Given the description of an element on the screen output the (x, y) to click on. 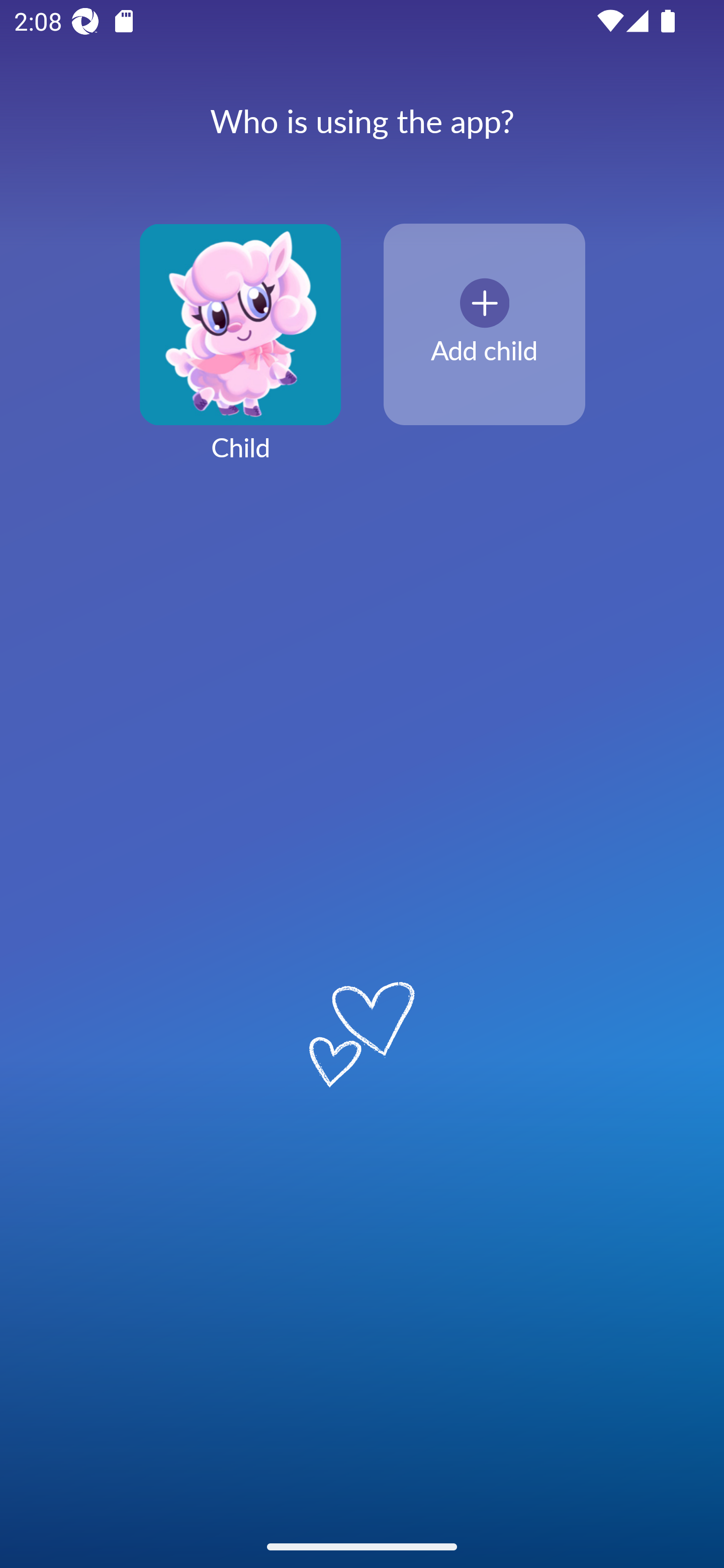
Child (240, 354)
Add child (483, 324)
